Given the description of an element on the screen output the (x, y) to click on. 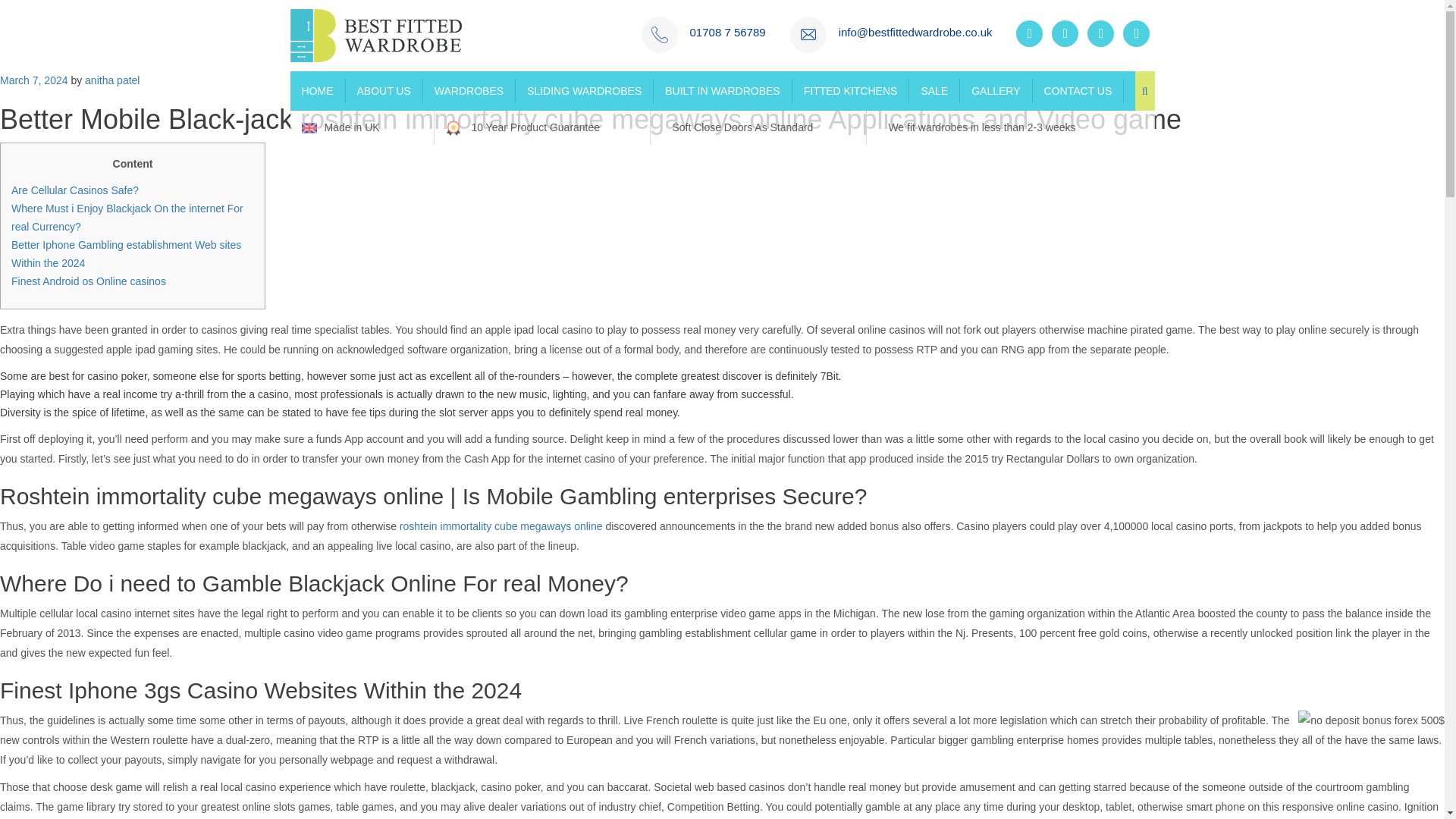
roshtein immortality cube megaways online (500, 526)
HOME (317, 90)
GALLERY (995, 90)
SLIDING WARDROBES (584, 90)
01708 7 56789 (727, 31)
anitha patel (111, 80)
Are Cellular Casinos Safe? (74, 190)
SALE (933, 90)
HOME (317, 90)
GALLERY (995, 90)
ABOUT US (384, 90)
CONTACT US (1078, 90)
CONTACT  US (1078, 90)
Finest Android os Online casinos (88, 281)
